Given the description of an element on the screen output the (x, y) to click on. 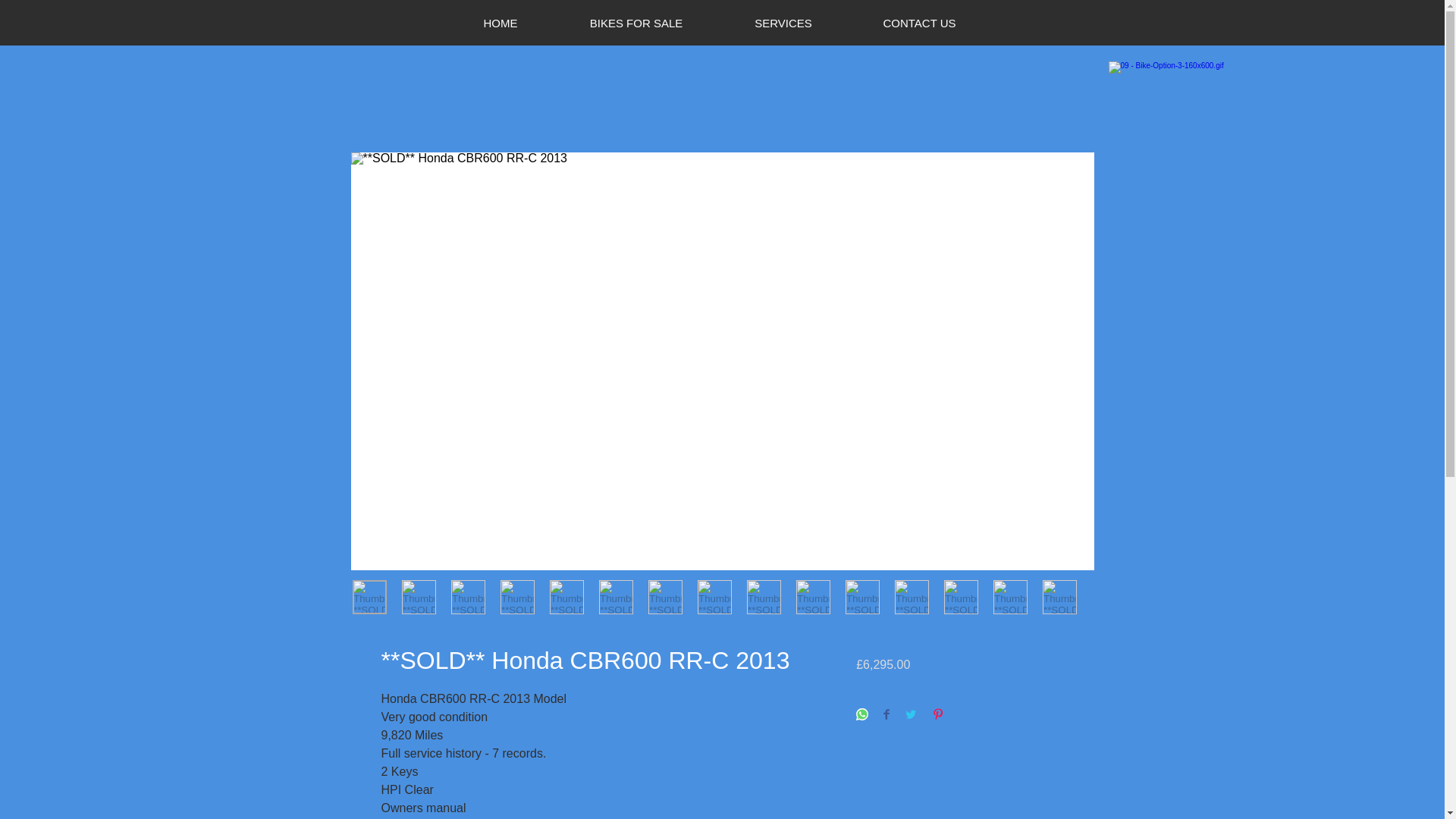
BIKES FOR SALE (636, 23)
HOME (499, 23)
SERVICES (783, 23)
CONTACT US (919, 23)
